Given the description of an element on the screen output the (x, y) to click on. 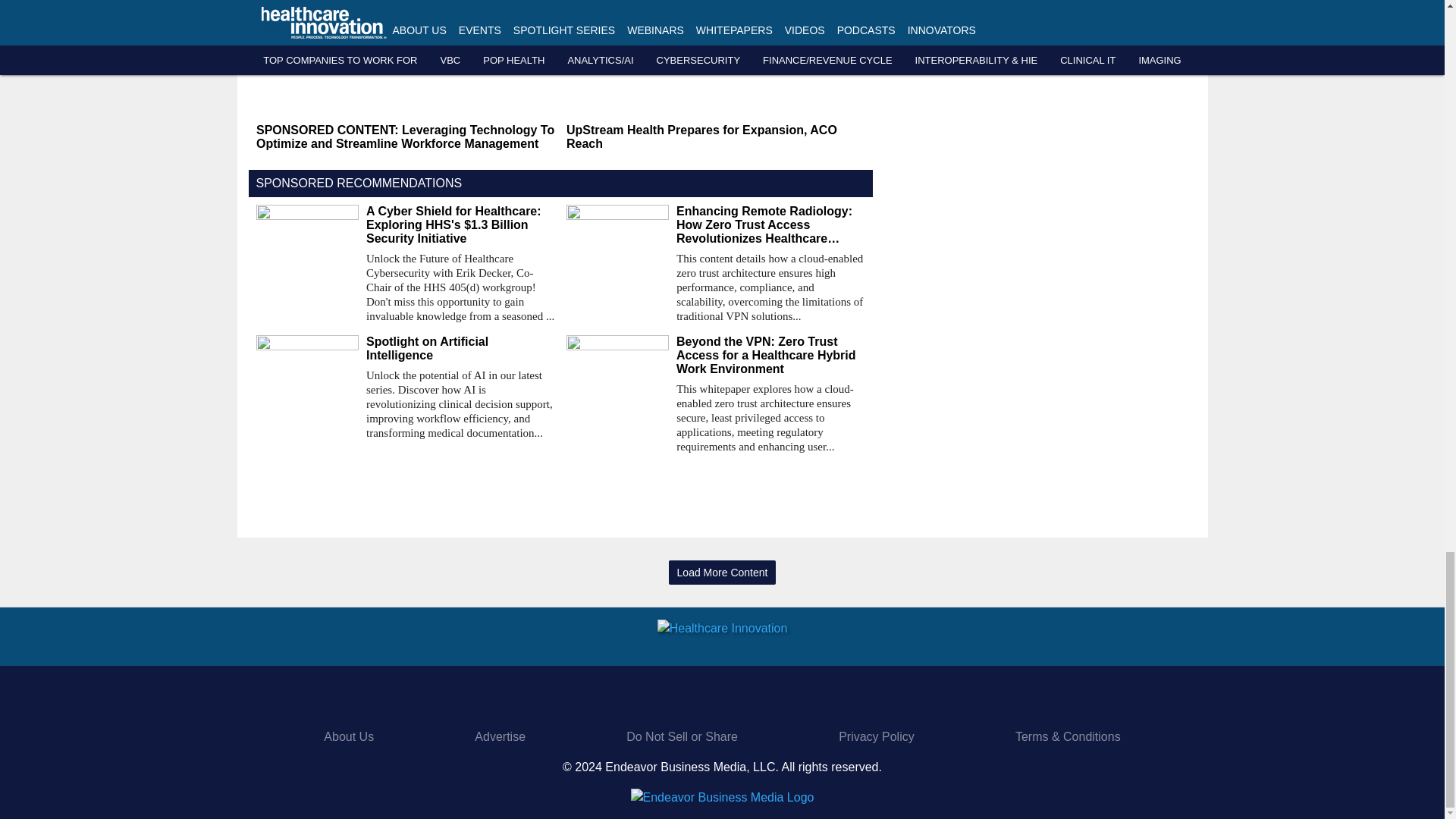
UpStream Health Prepares for Expansion, ACO Reach (715, 136)
Spotlight on Artificial Intelligence (459, 348)
